Given the description of an element on the screen output the (x, y) to click on. 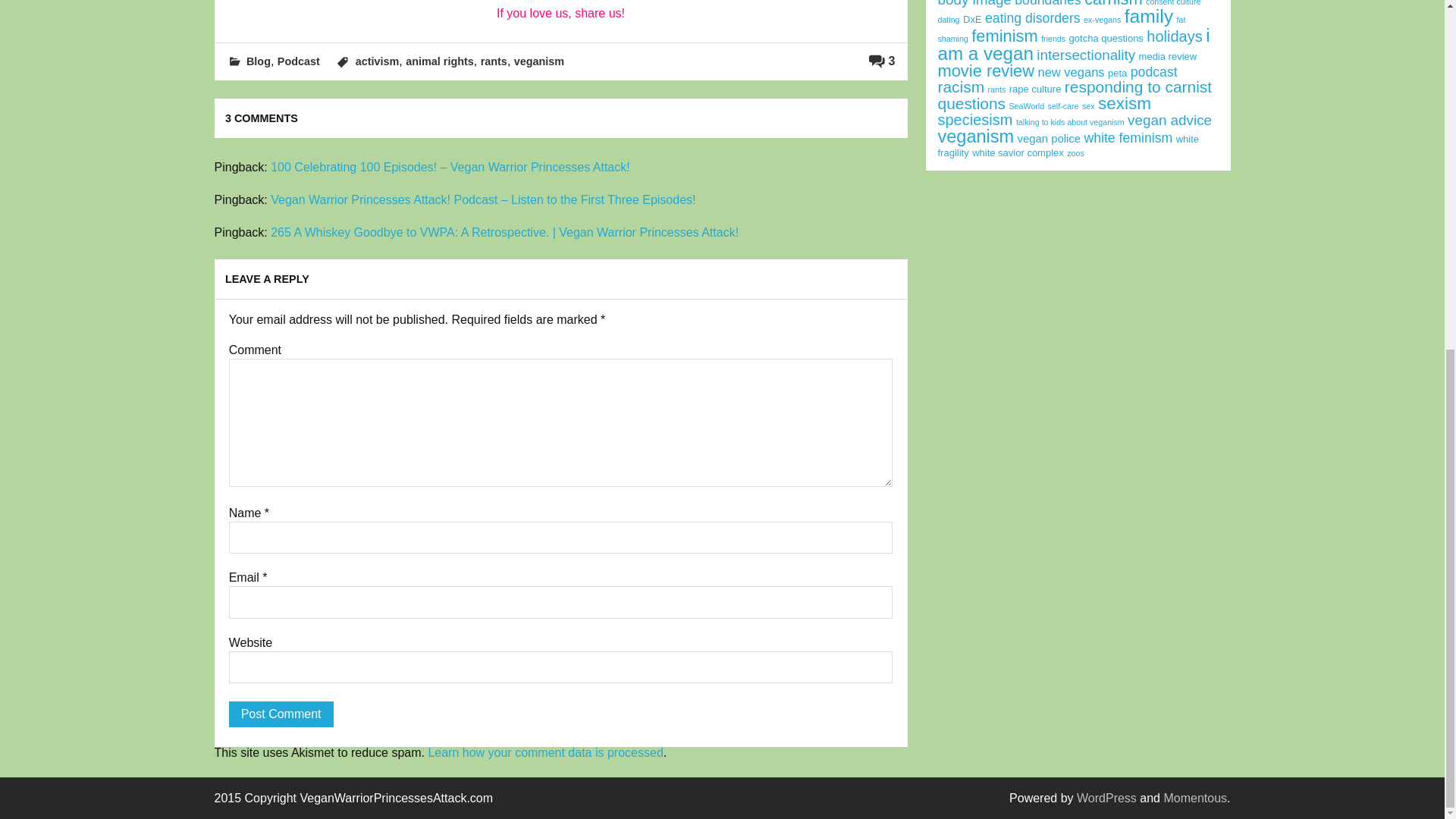
Blog (258, 61)
3 (882, 60)
Post Comment (280, 714)
LinkedIn (596, 2)
animal rights (440, 61)
Facebook (417, 2)
Post Comment (280, 714)
Learn how your comment data is processed (545, 752)
Podcast (299, 61)
veganism (538, 61)
Reddit (560, 2)
